Given the description of an element on the screen output the (x, y) to click on. 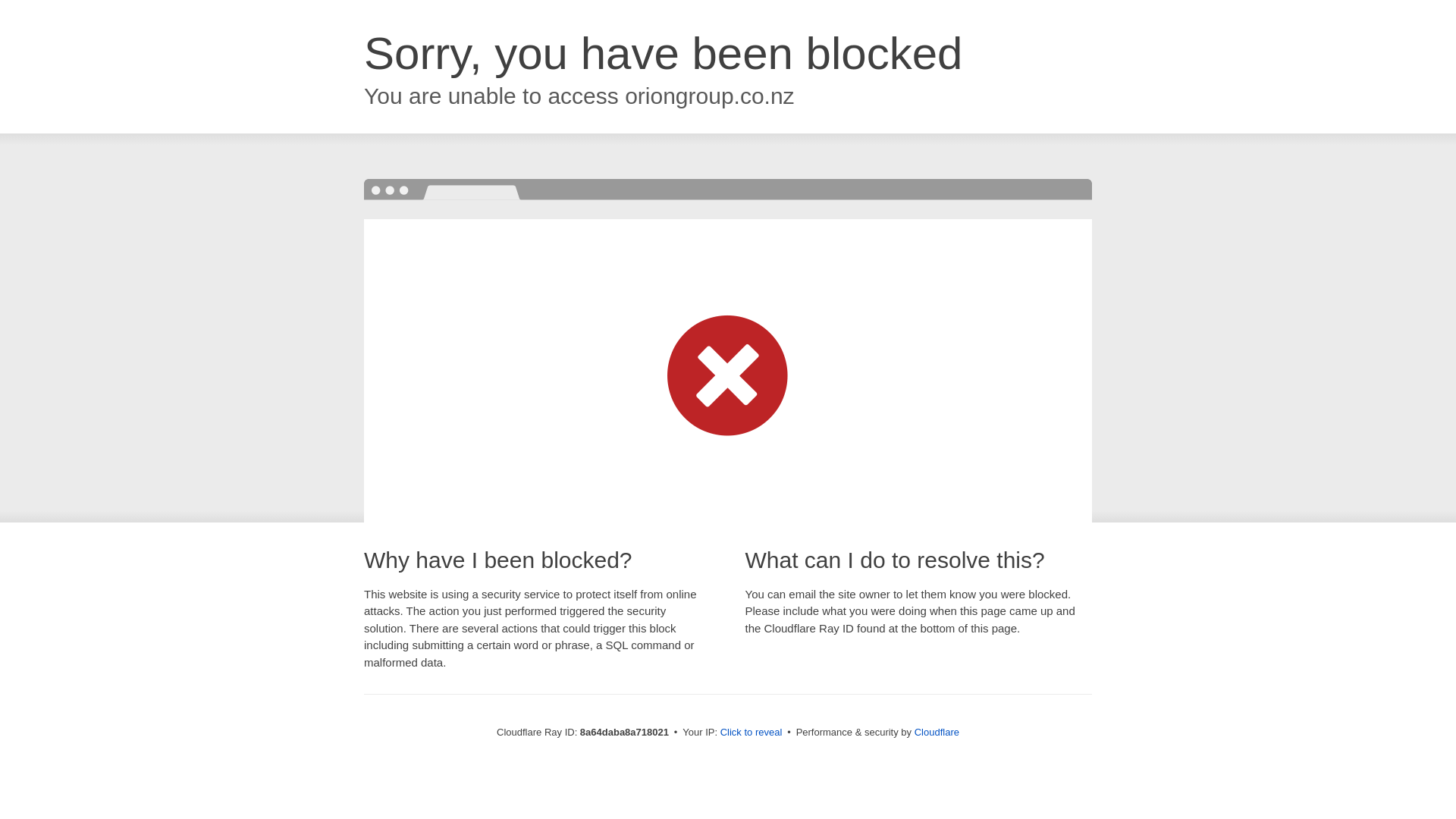
Click to reveal (751, 732)
Cloudflare (936, 731)
